Given the description of an element on the screen output the (x, y) to click on. 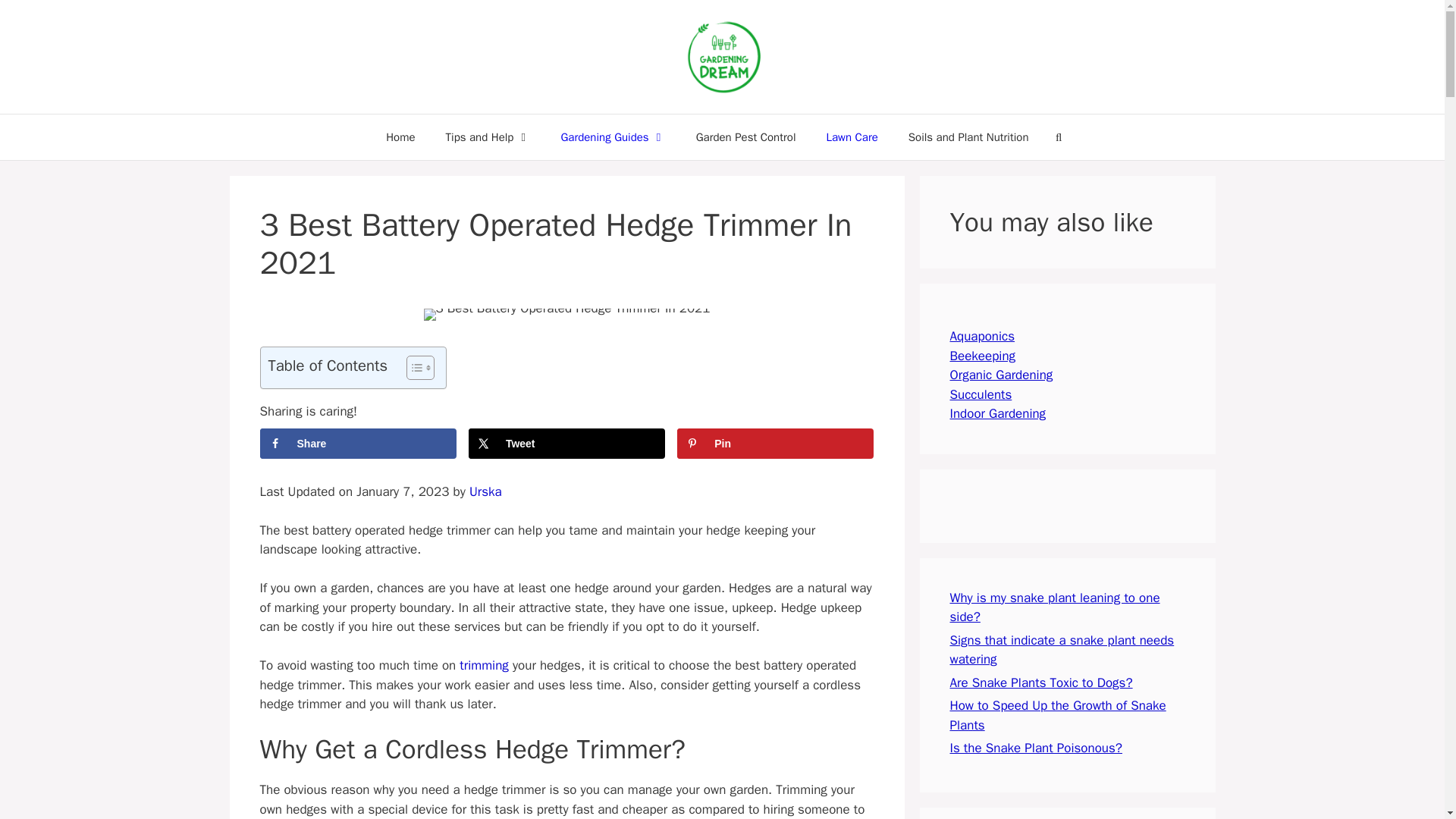
Pin (775, 443)
Home (400, 136)
Share (357, 443)
3 Best Battery Operated Hedge Trimmer In 2021 1 (566, 314)
Save to Pinterest (775, 443)
Garden Pest Control (745, 136)
Share on Facebook (357, 443)
Soils and Plant Nutrition (968, 136)
Share on X (566, 443)
Lawn Care (851, 136)
Tips and Help (488, 136)
Tweet (566, 443)
Gardening Guides (611, 136)
